Given the description of an element on the screen output the (x, y) to click on. 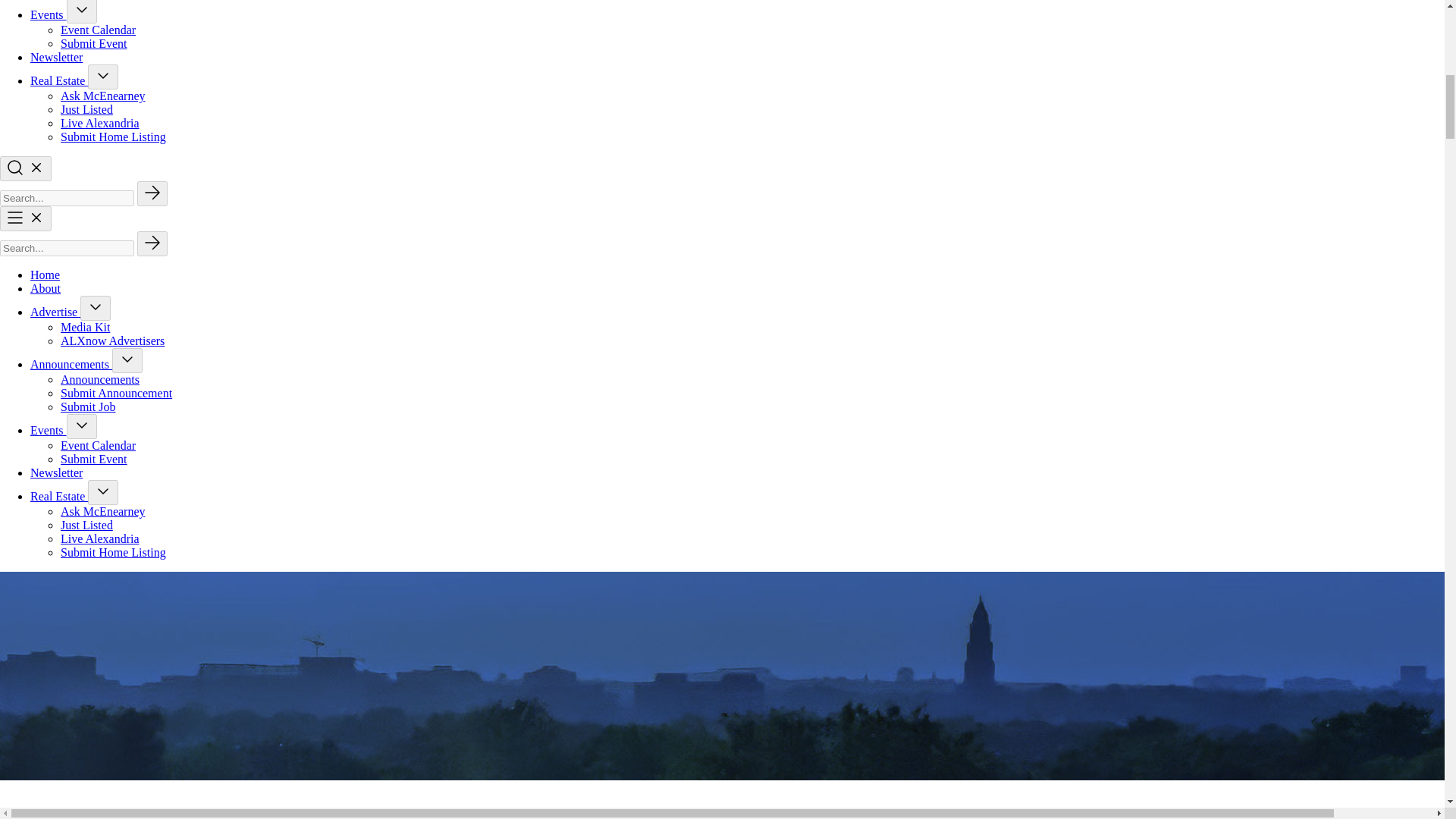
Event Calendar (98, 29)
Events (48, 14)
